Given the description of an element on the screen output the (x, y) to click on. 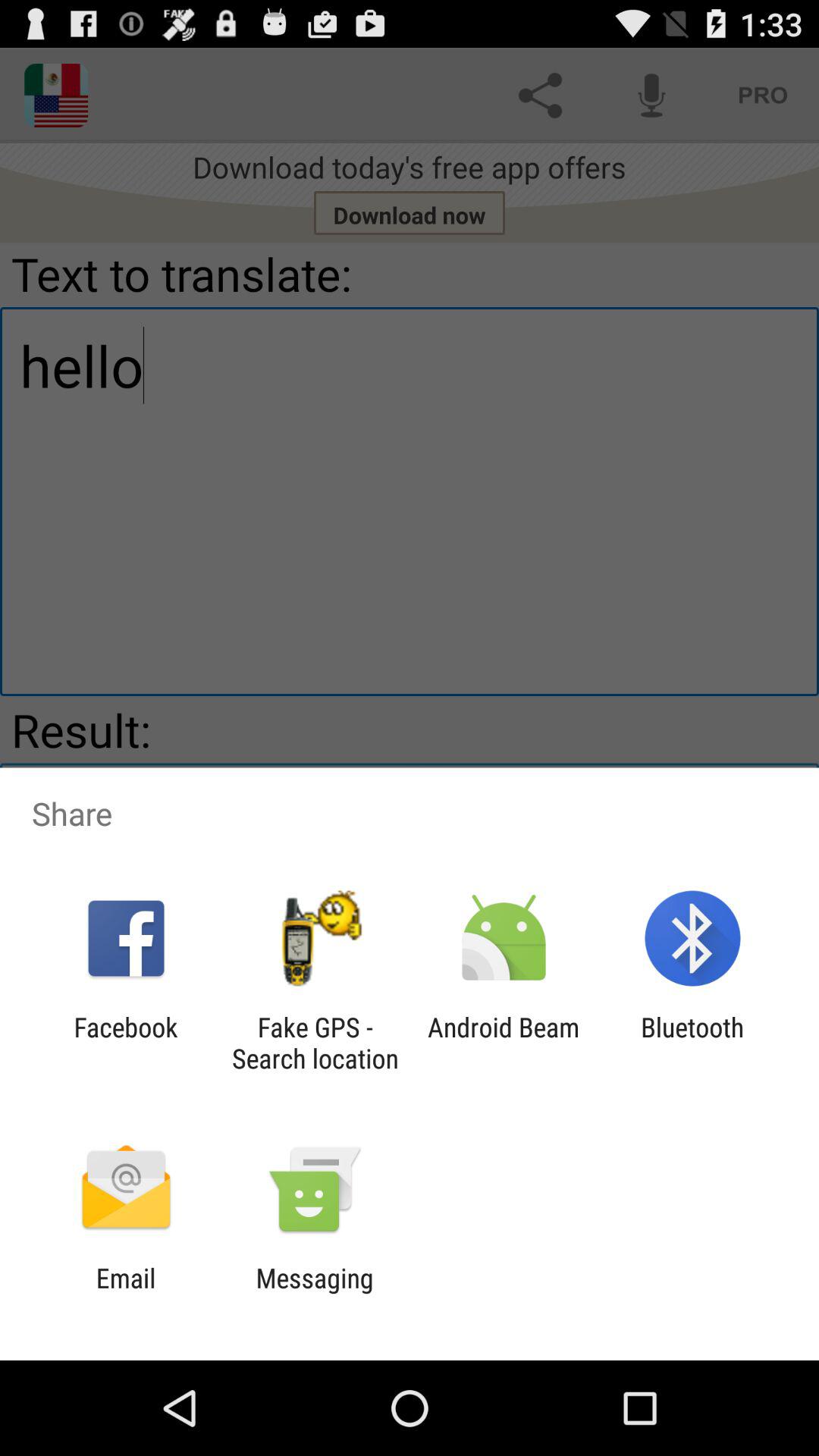
turn on messaging app (314, 1293)
